Given the description of an element on the screen output the (x, y) to click on. 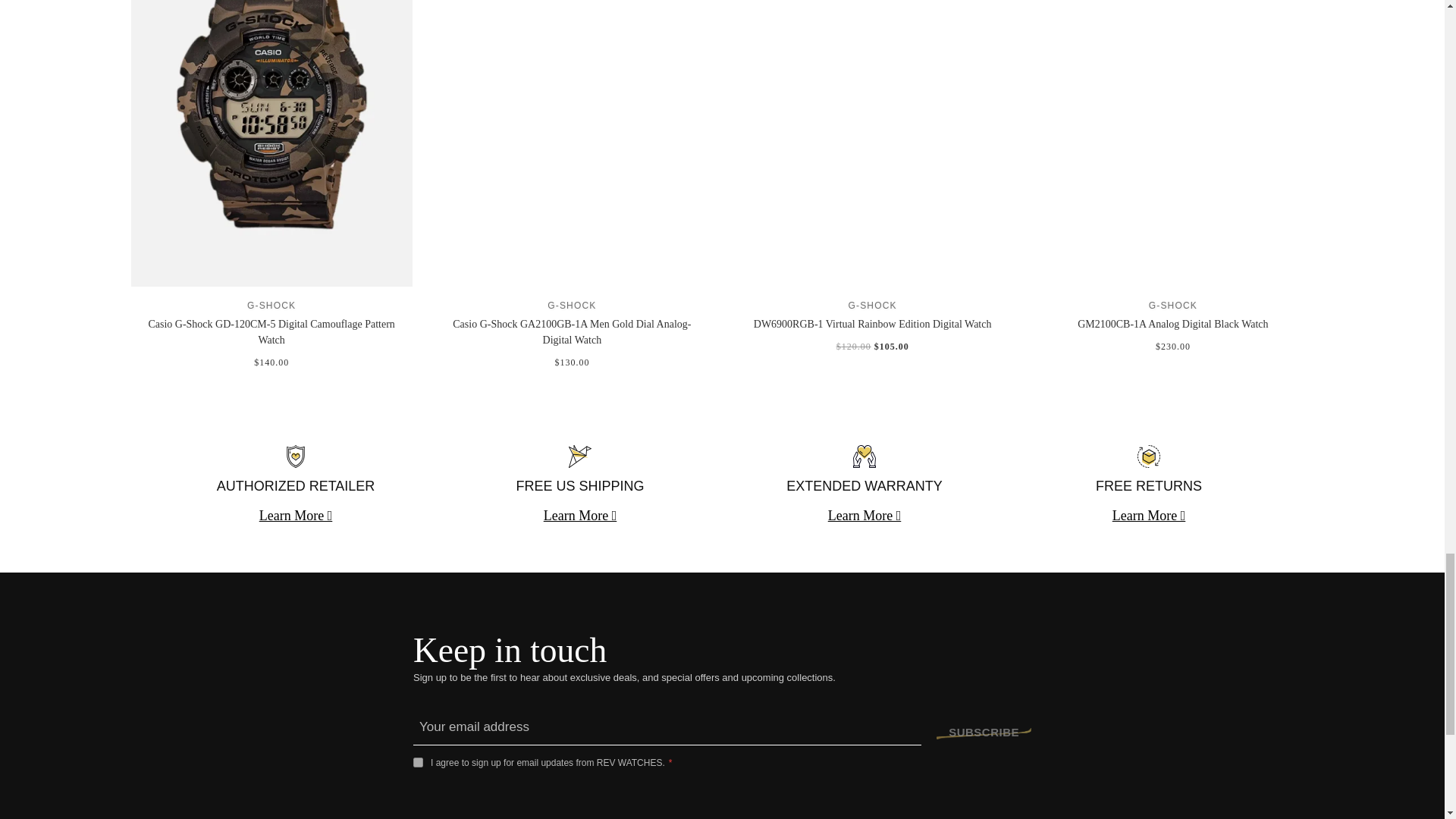
DW6900RGB-1 Virtual Rainbow Edition Digital Watch (872, 324)
Casio G-Shock GA2100GB-1A Men Gold Dial Analog-Digital Watch (571, 331)
Casio G-Shock GD-120CM-5 Digital Camouflage Pattern Watch (271, 331)
accept (418, 762)
